Given the description of an element on the screen output the (x, y) to click on. 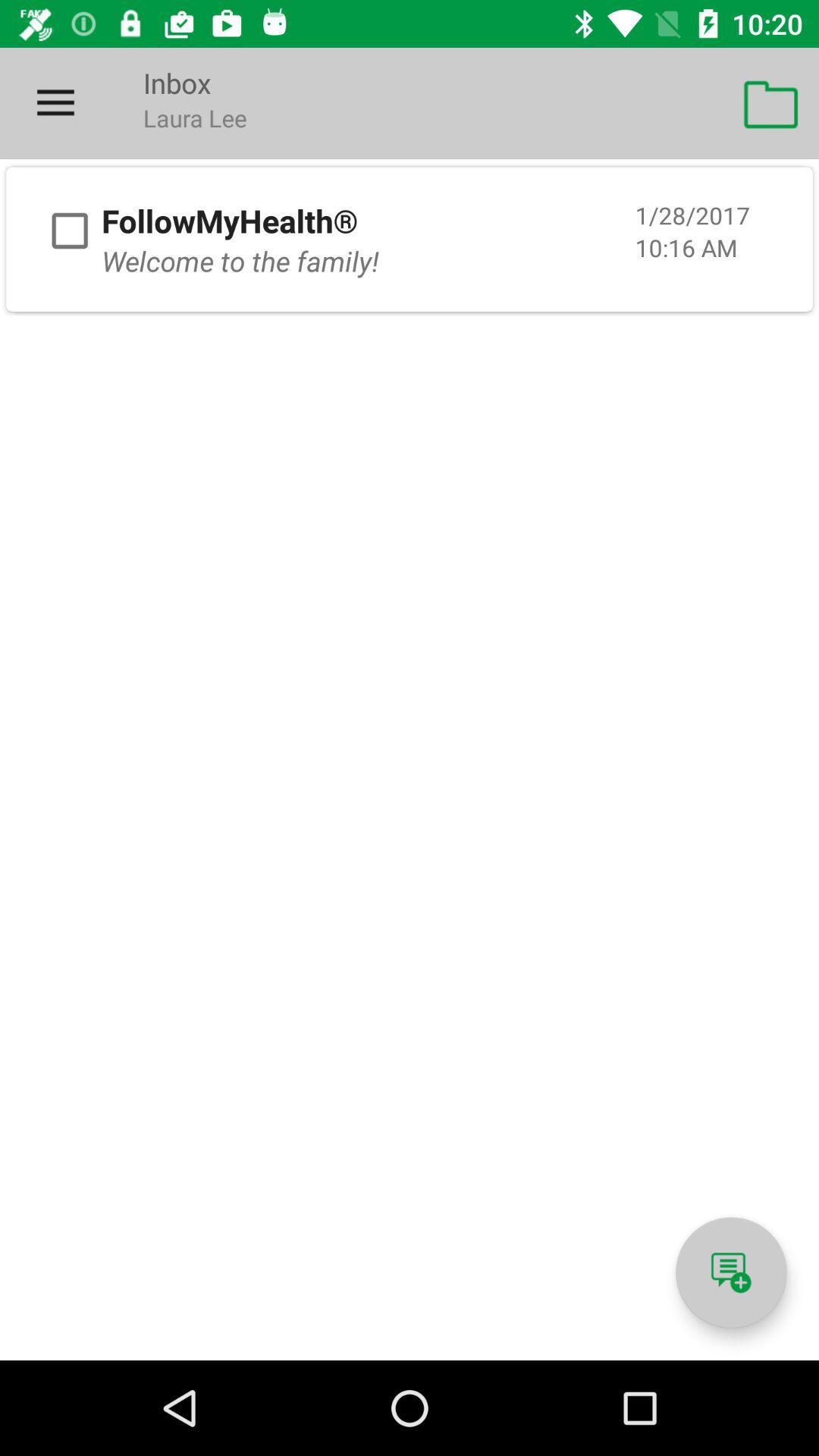
open item below the 10:16 am (731, 1272)
